Given the description of an element on the screen output the (x, y) to click on. 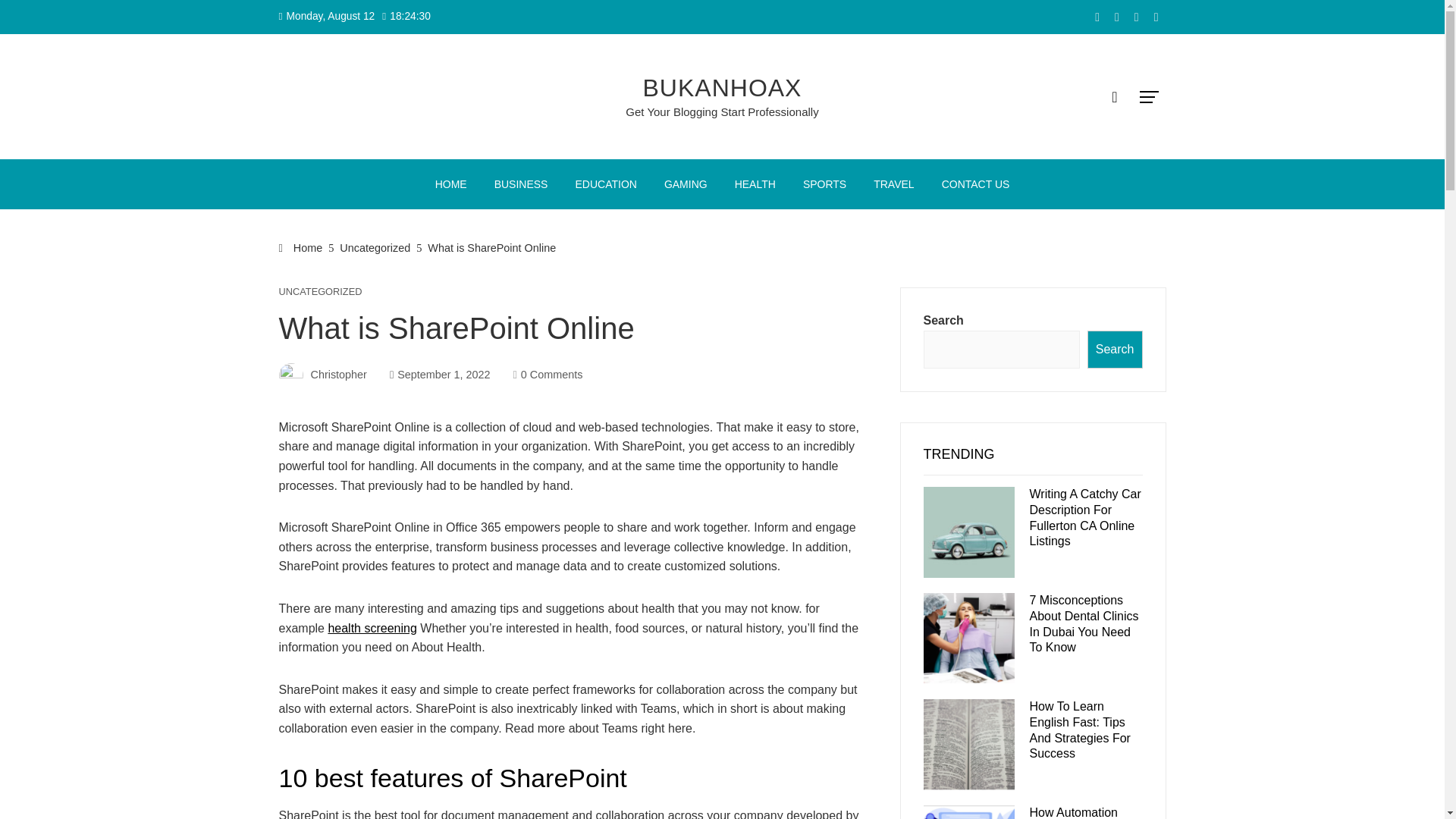
HEALTH (755, 183)
HOME (451, 183)
CONTACT US (976, 183)
SPORTS (824, 183)
BUKANHOAX (722, 87)
EDUCATION (605, 183)
TRAVEL (892, 183)
UNCATEGORIZED (320, 292)
BUSINESS (521, 183)
health screening (371, 627)
